Given the description of an element on the screen output the (x, y) to click on. 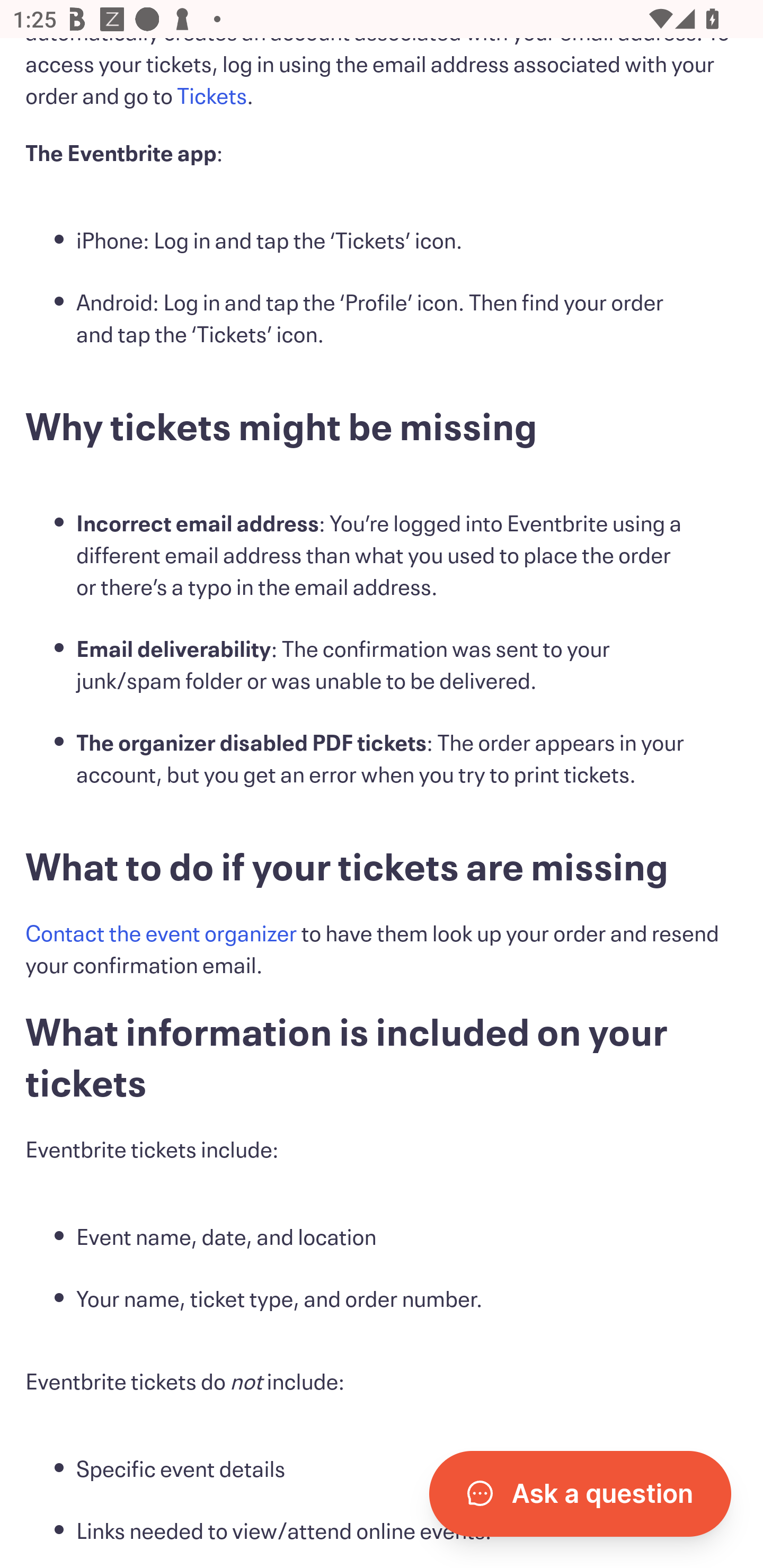
Tickets (211, 98)
Contact the event organizer (161, 935)
Open Chatbot (579, 1494)
